Given the description of an element on the screen output the (x, y) to click on. 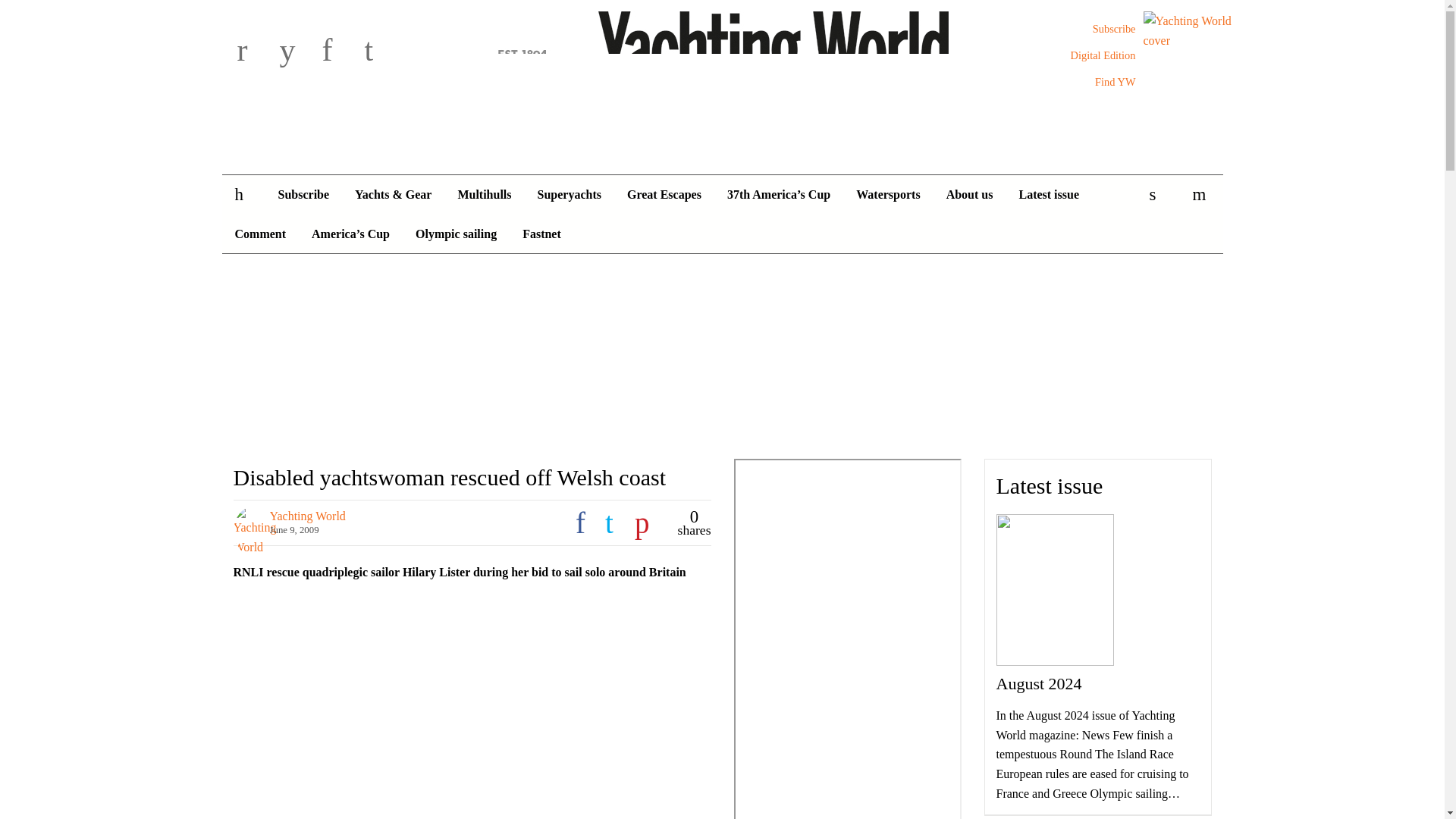
f (339, 52)
Subscribe (303, 194)
Yachting World (721, 53)
Digital Edition (1102, 55)
r (254, 52)
Multihulls (484, 194)
t (382, 52)
y (297, 52)
Great Escapes (664, 194)
Yachting World (721, 53)
